Given the description of an element on the screen output the (x, y) to click on. 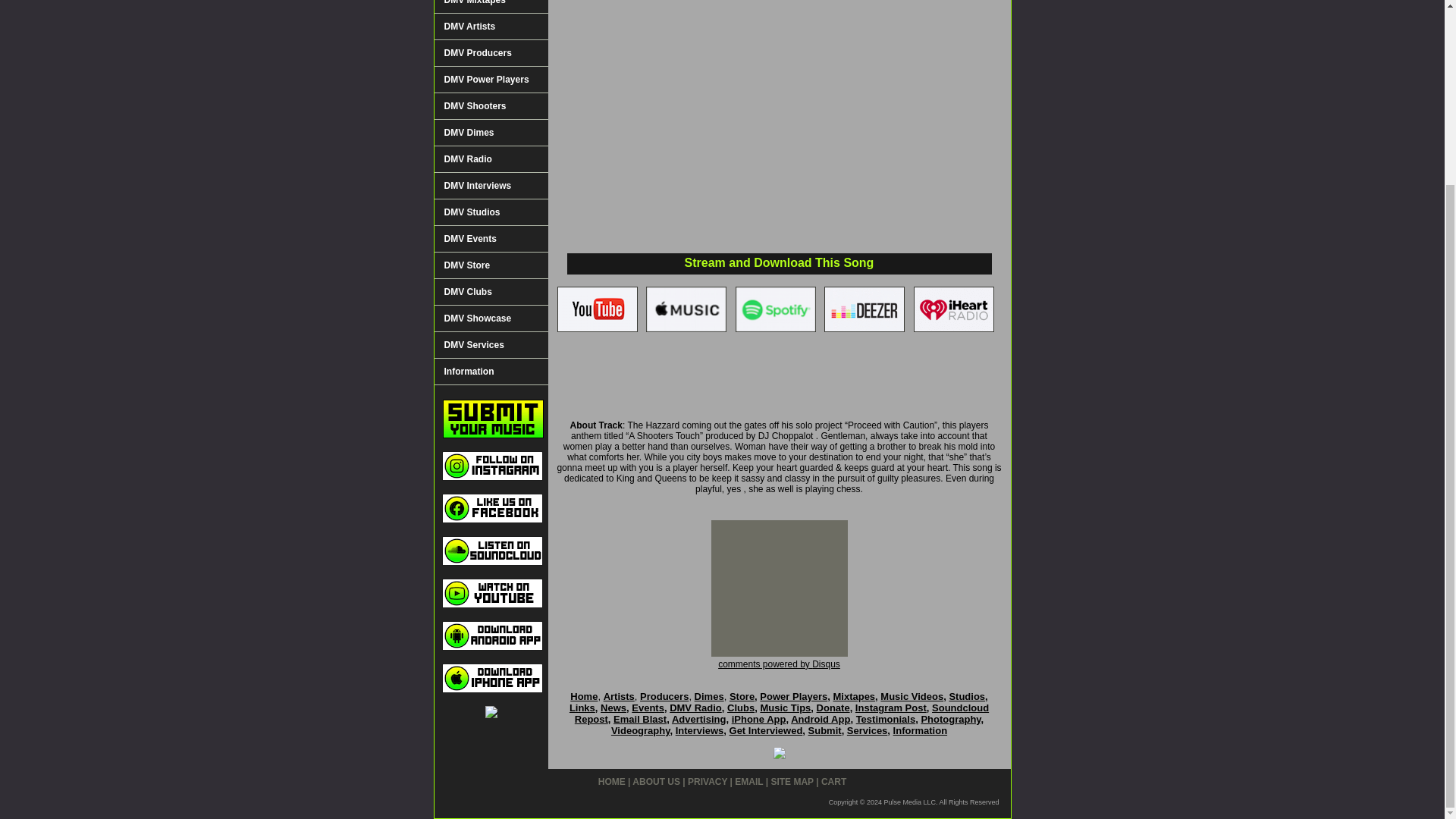
DMV Events (490, 239)
Information (490, 371)
DMV Radio (695, 707)
DMV Showcase (490, 318)
Instagram Post (891, 707)
comments powered by Disqus (778, 664)
DMV Clubs (490, 292)
DMV Services (490, 345)
Links (582, 707)
DMV Studios (490, 212)
